Given the description of an element on the screen output the (x, y) to click on. 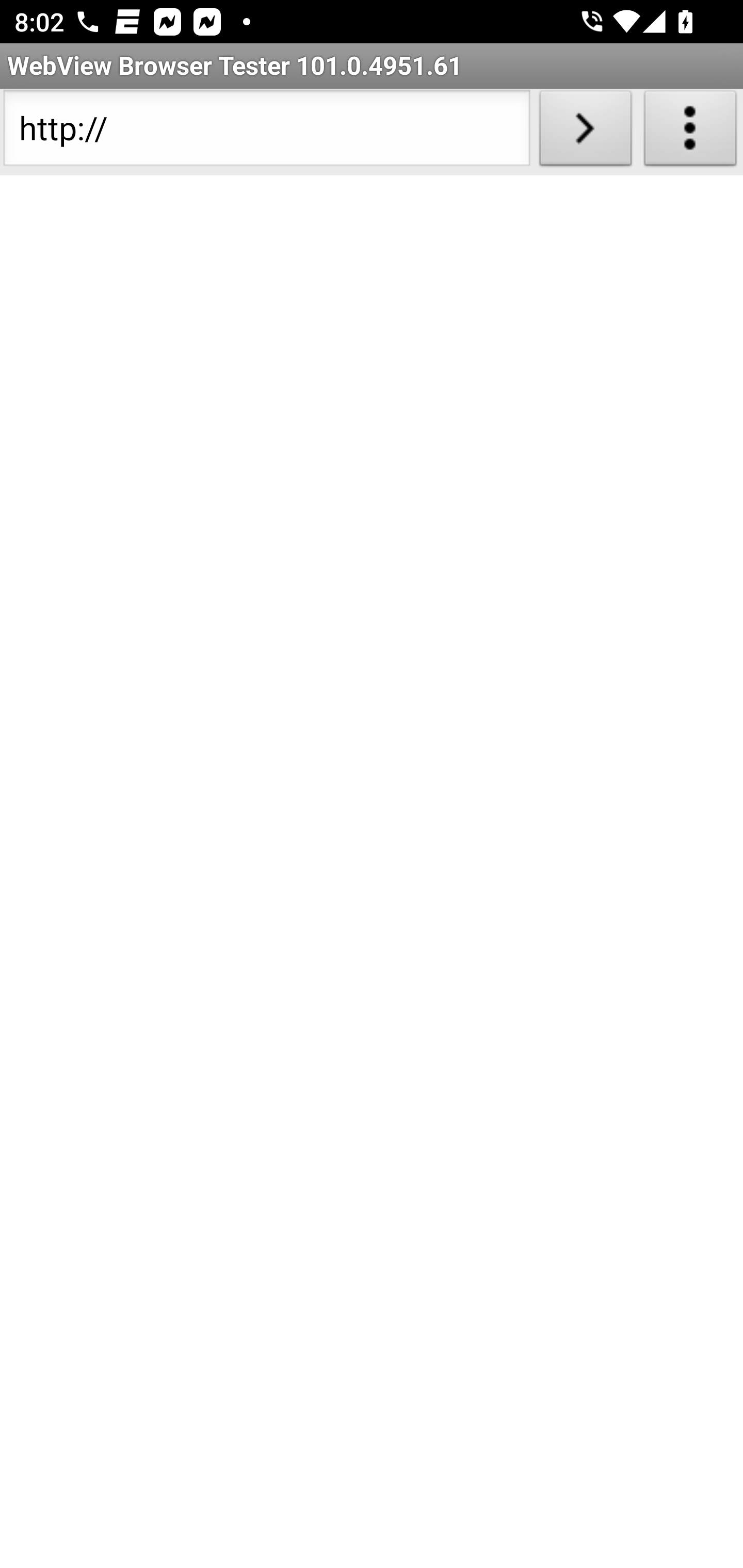
http:// (266, 132)
Load URL (585, 132)
About WebView (690, 132)
